Given the description of an element on the screen output the (x, y) to click on. 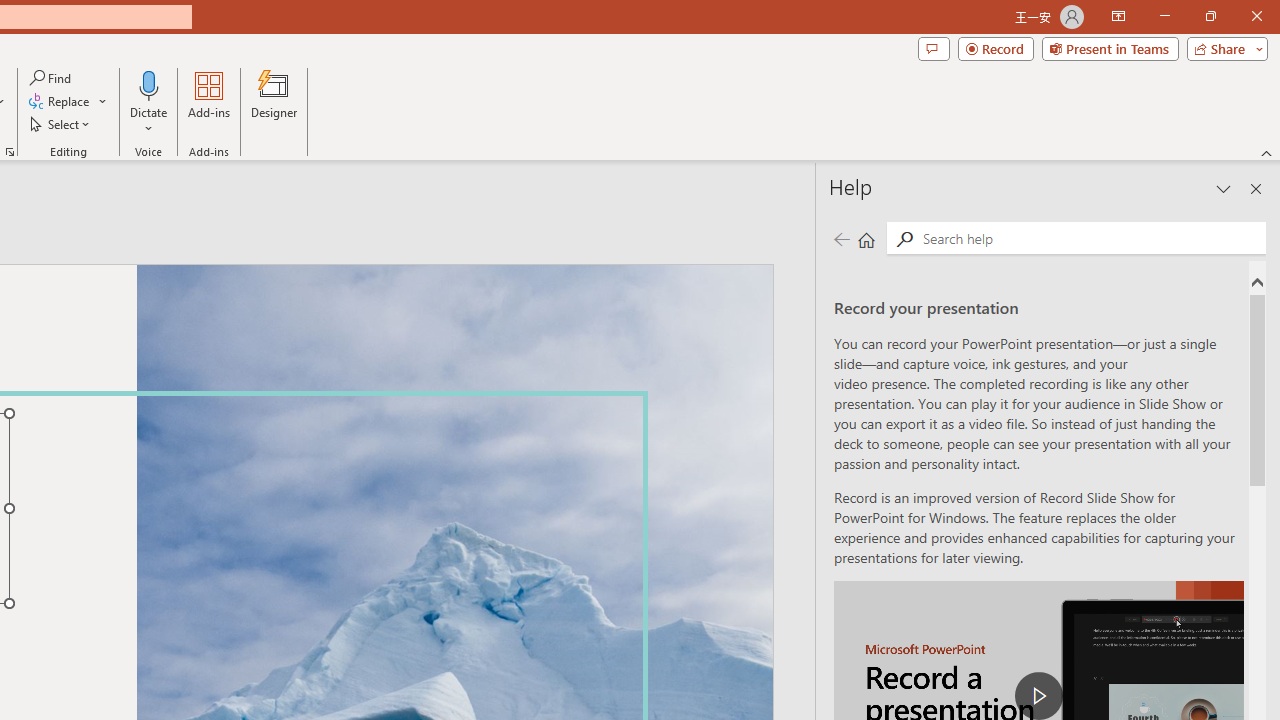
Previous page (841, 238)
